Given the description of an element on the screen output the (x, y) to click on. 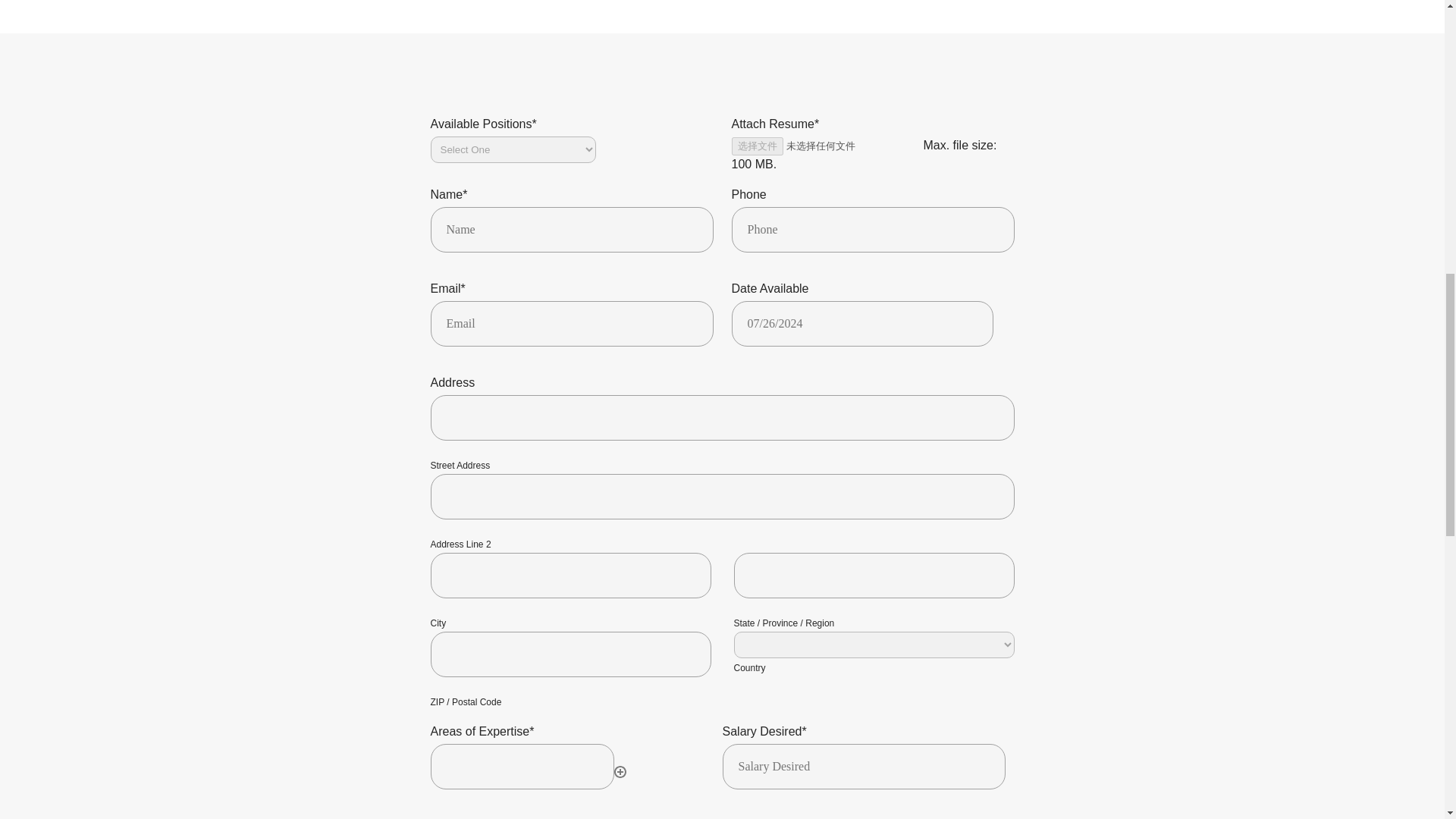
Add a new row (620, 771)
